Given the description of an element on the screen output the (x, y) to click on. 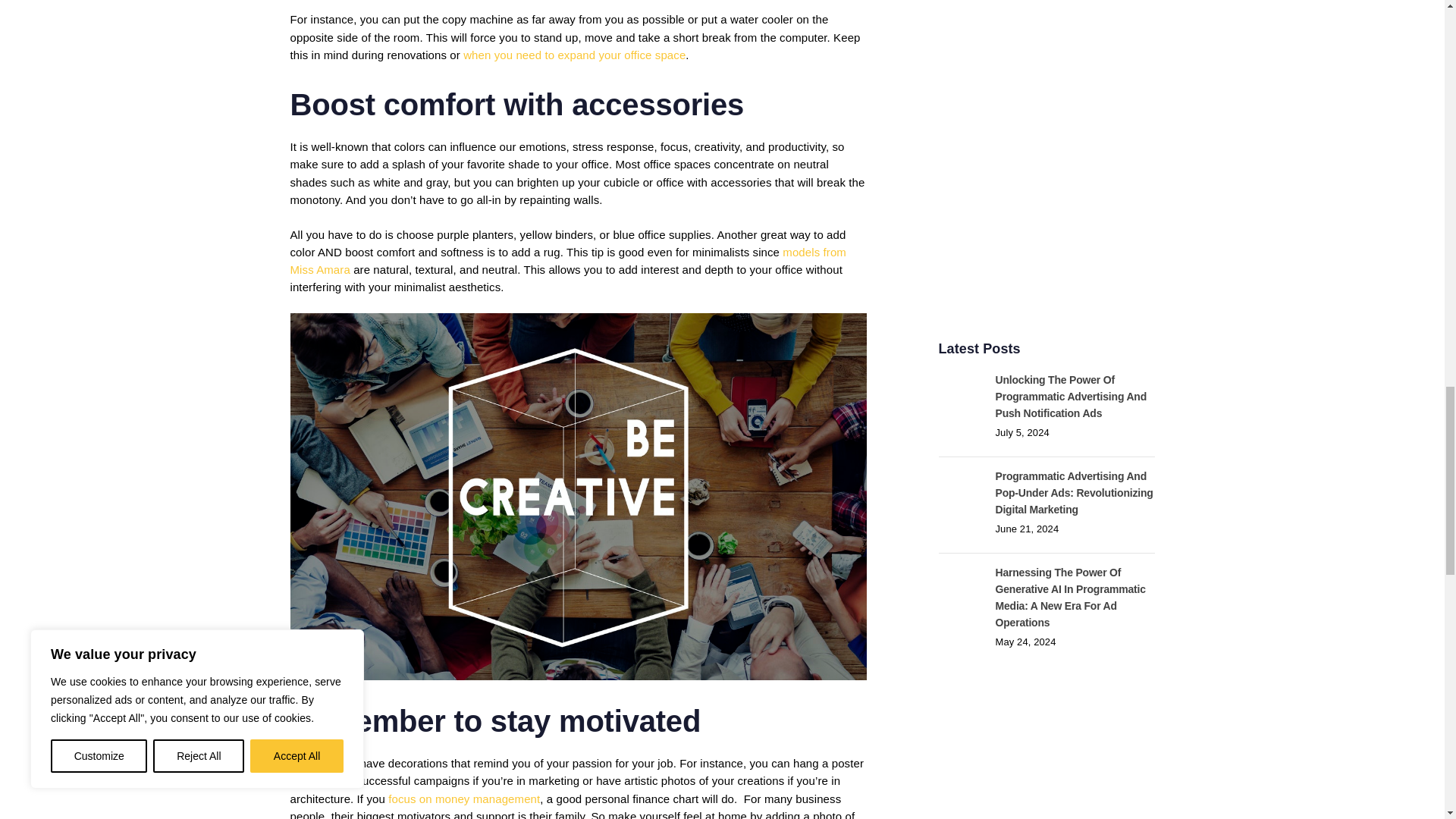
models from Miss Amara (567, 260)
focus on money management (464, 798)
when you need to expand your office space (574, 54)
